Given the description of an element on the screen output the (x, y) to click on. 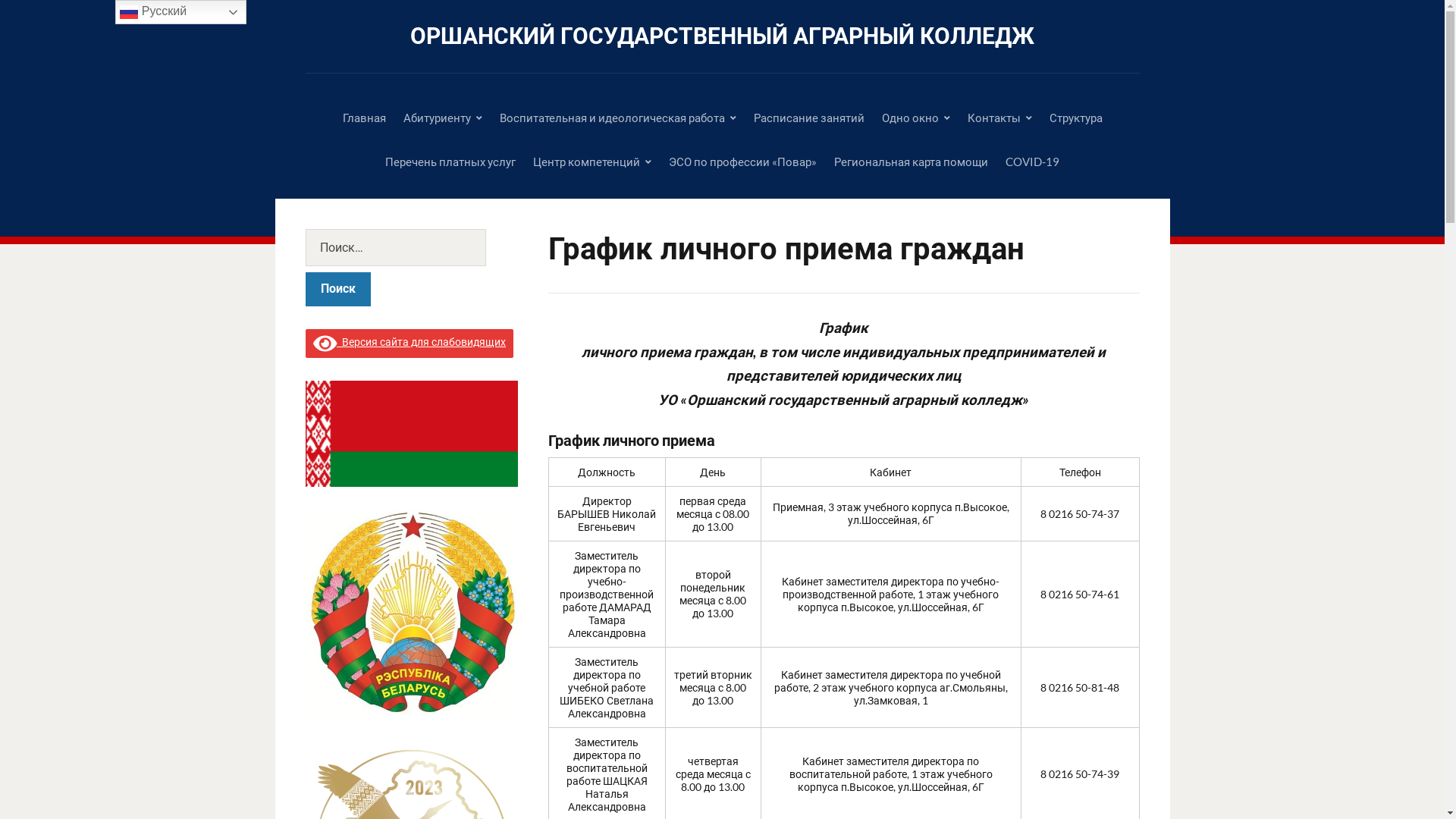
COVID-19 Element type: text (1032, 161)
